Given the description of an element on the screen output the (x, y) to click on. 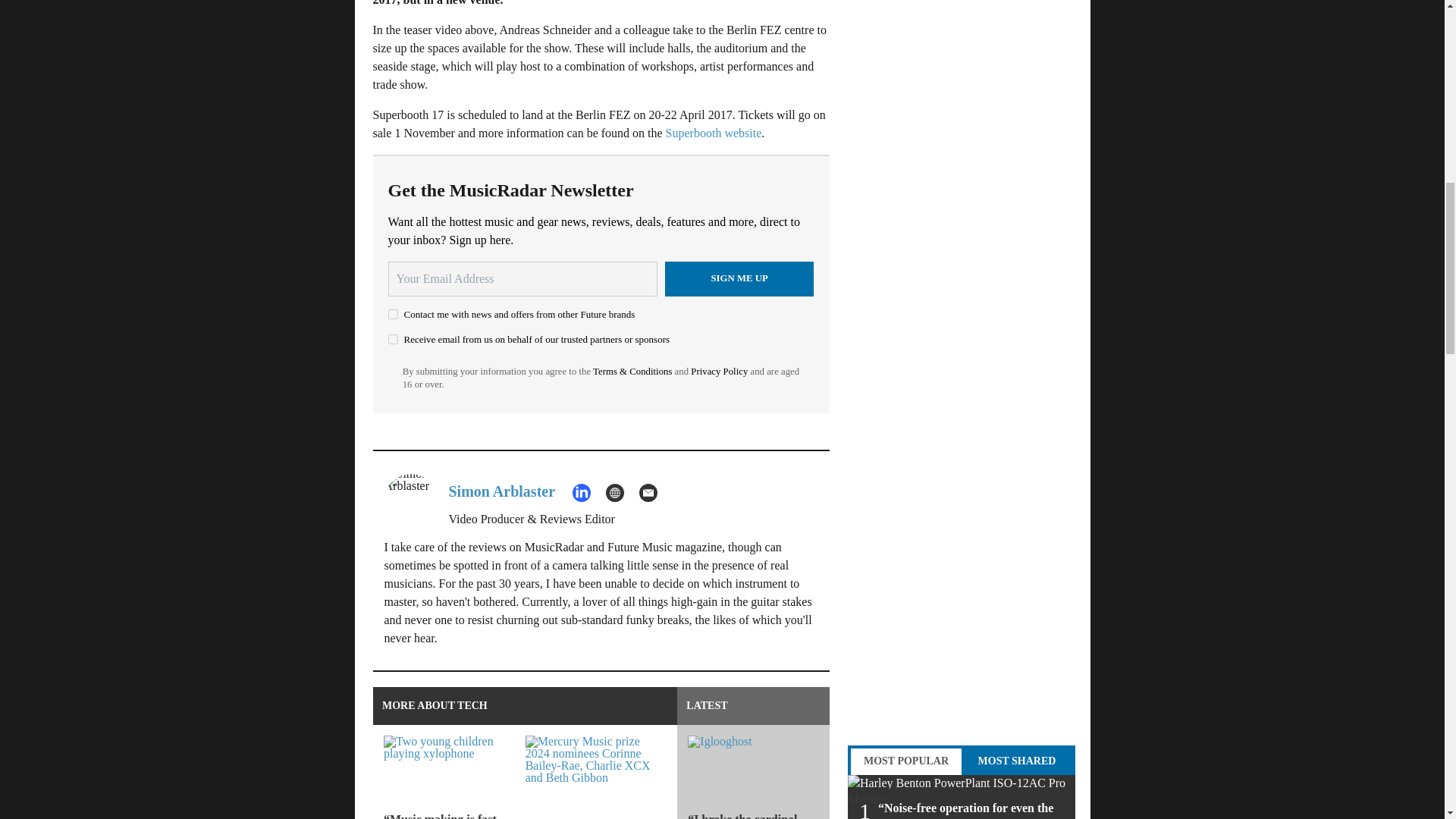
on (392, 338)
on (392, 314)
Sign me up (739, 278)
